Given the description of an element on the screen output the (x, y) to click on. 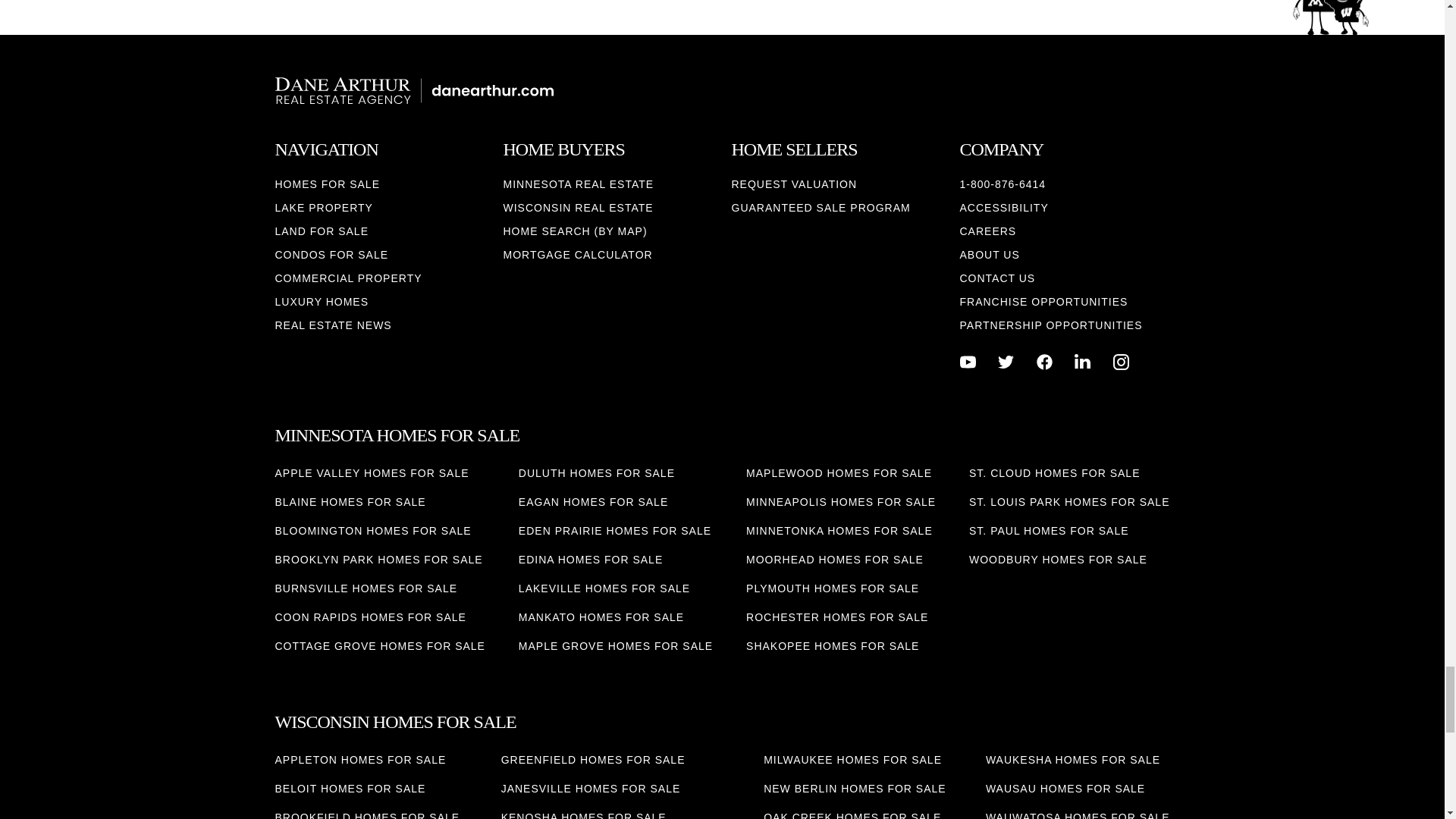
YOUTUBE (967, 361)
TWITTER (1005, 361)
LINKEDIN (1082, 361)
FACEBOOK (1044, 361)
